Given the description of an element on the screen output the (x, y) to click on. 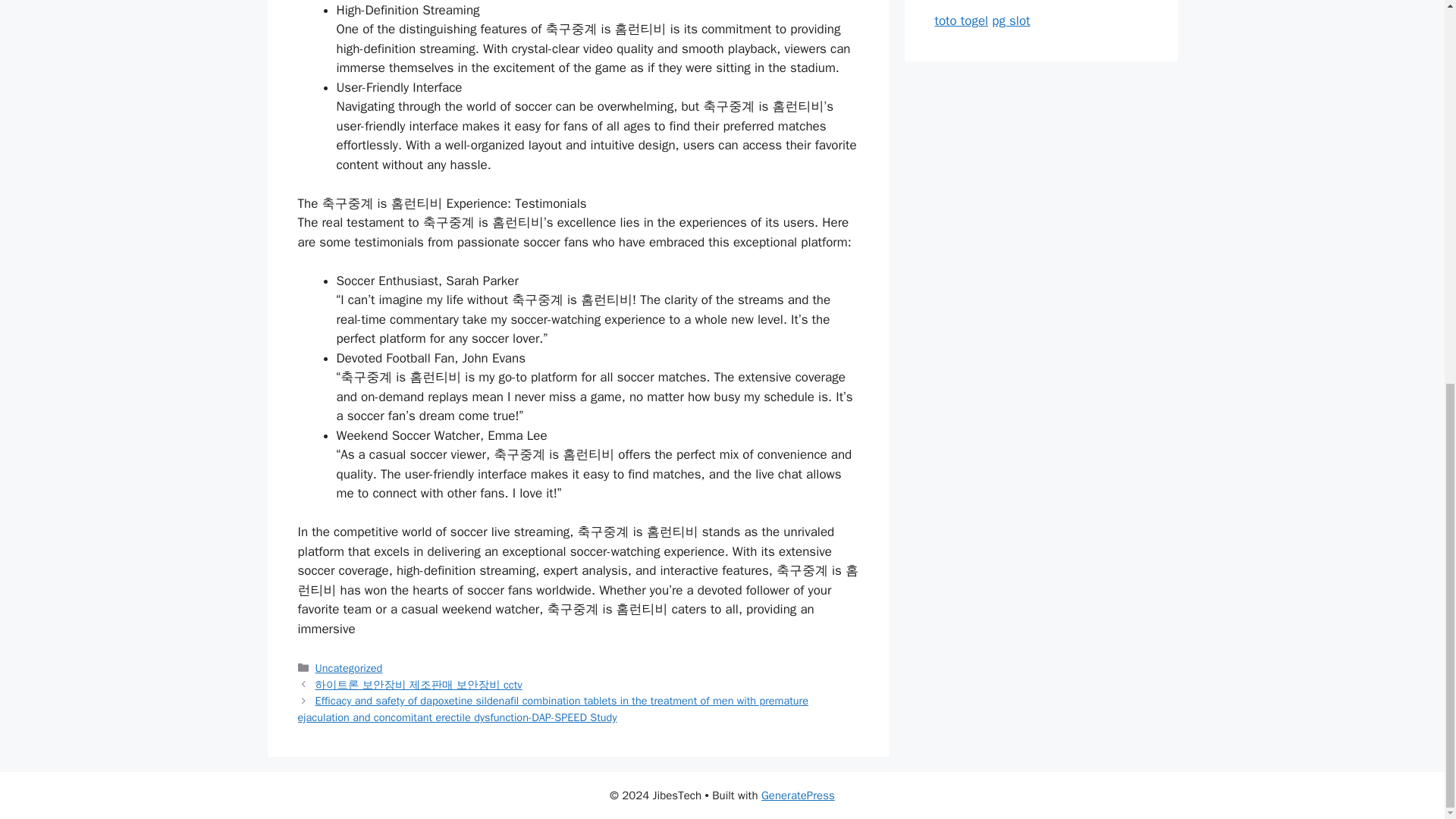
toto togel (961, 20)
pg slot (1010, 20)
Uncategorized (348, 667)
GeneratePress (797, 795)
